Given the description of an element on the screen output the (x, y) to click on. 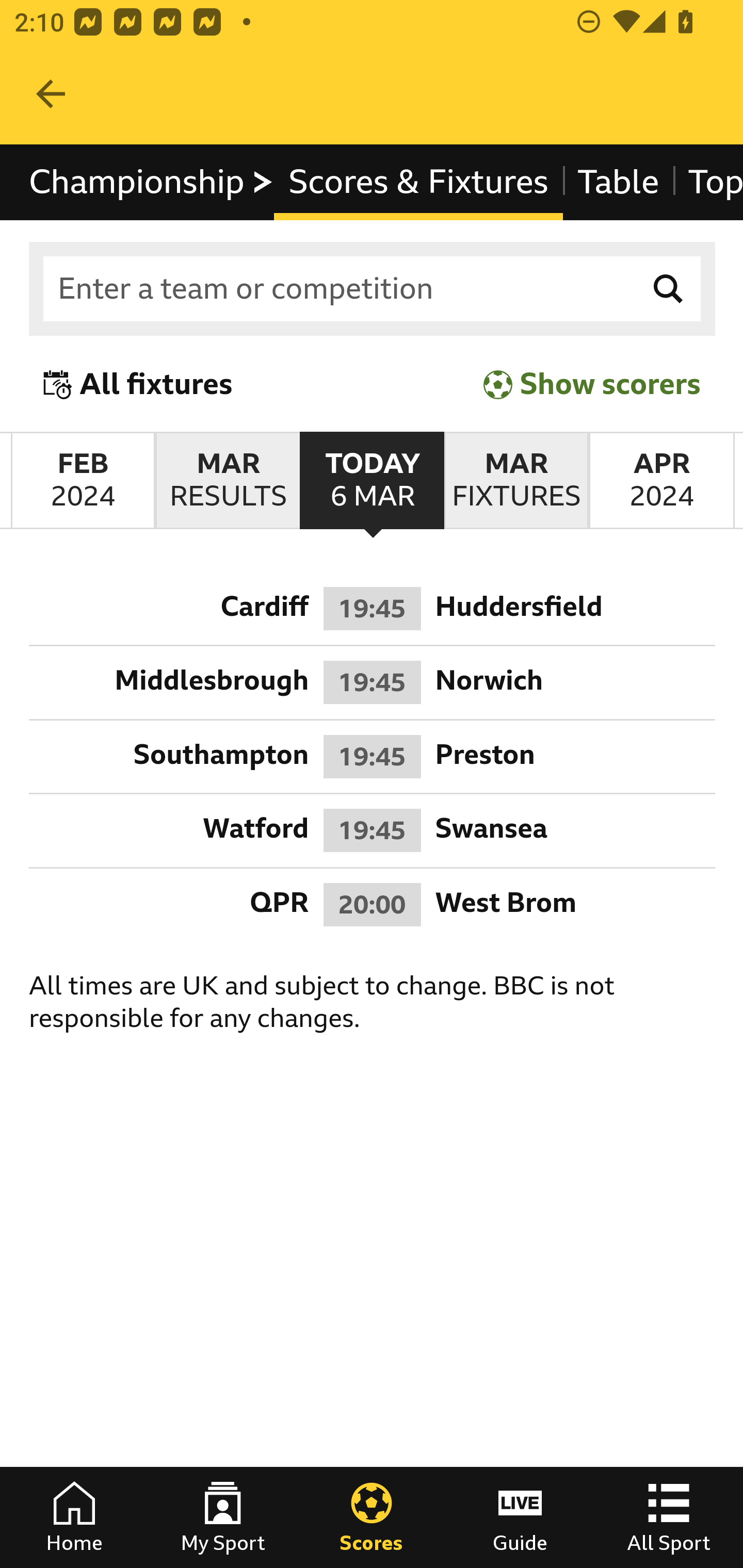
Navigate up (50, 93)
Championship  (151, 181)
Scores & Fixtures (417, 181)
Table (618, 181)
Search (669, 289)
All fixtures (137, 383)
Show scorers (591, 383)
February2024 February 2024 (83, 480)
MarchRESULTS March RESULTS (227, 480)
MarchFIXTURES March FIXTURES (516, 480)
April2024 April 2024 (661, 480)
Home (74, 1517)
My Sport (222, 1517)
Guide (519, 1517)
All Sport (668, 1517)
